Given the description of an element on the screen output the (x, y) to click on. 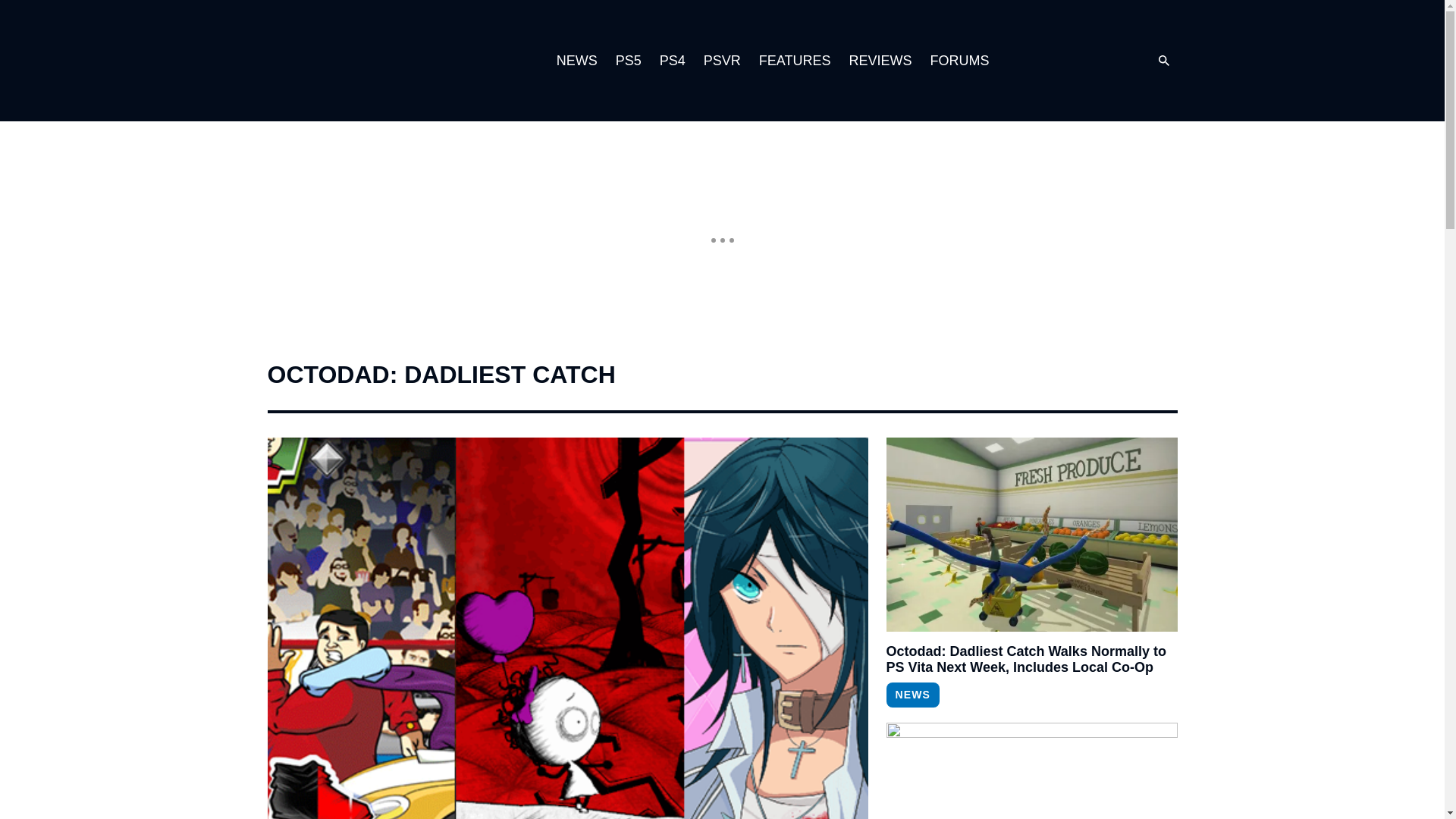
REVIEWS (880, 60)
FORUMS (958, 60)
FEATURES (794, 60)
PSVR (721, 60)
Instagram (1048, 60)
Twitter (1079, 60)
Facebook (1109, 60)
NEWS (912, 694)
